Given the description of an element on the screen output the (x, y) to click on. 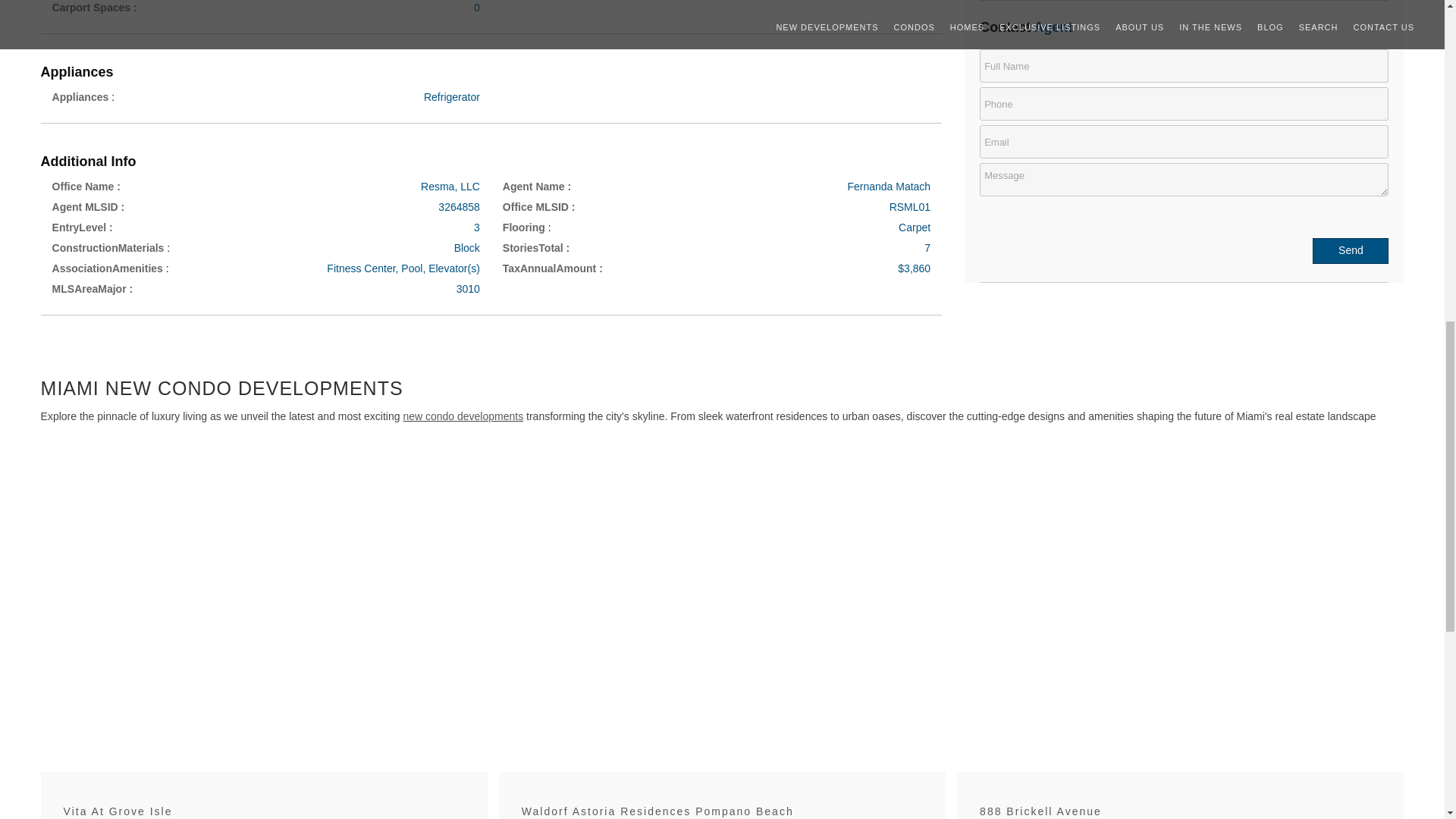
Send (1351, 250)
